Given the description of an element on the screen output the (x, y) to click on. 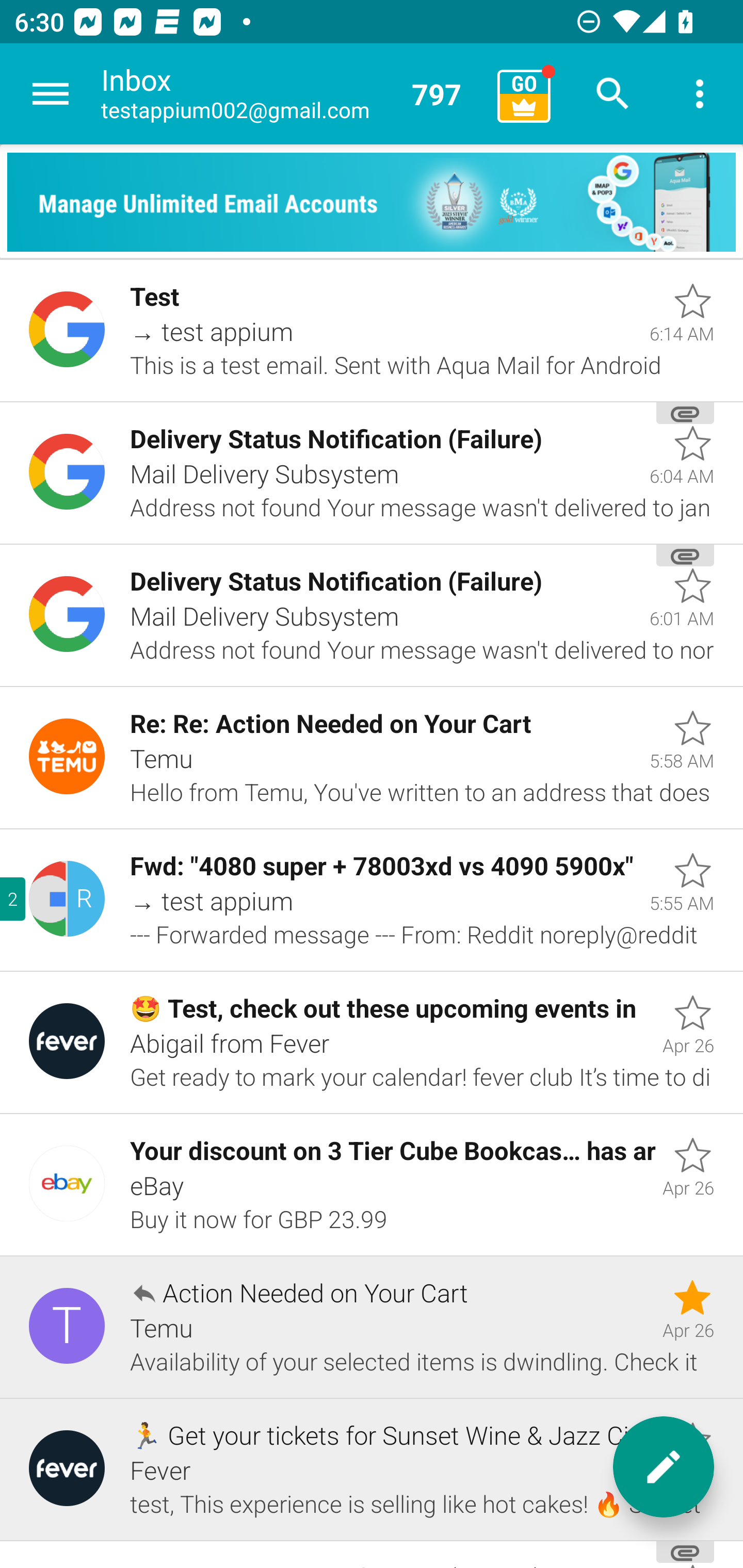
Navigate up (50, 93)
Inbox testappium002@gmail.com 797 (291, 93)
Search (612, 93)
More options (699, 93)
New message (663, 1466)
